Given the description of an element on the screen output the (x, y) to click on. 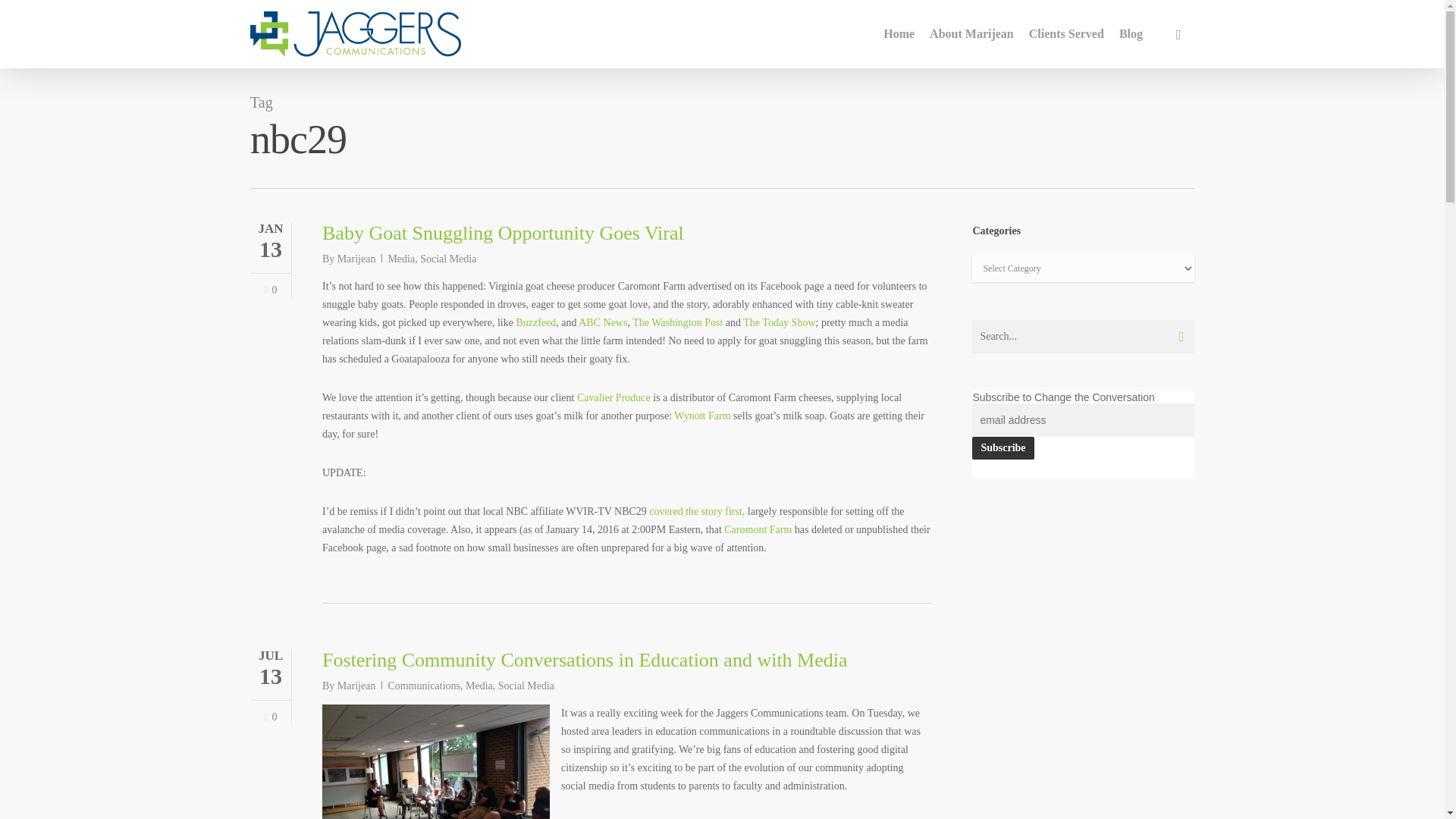
Baby Goat Snuggling Opportunity Goes Viral (502, 232)
Cavalier Produce (613, 397)
Media (479, 685)
Marijean (356, 258)
Posts by Marijean (356, 685)
Communications (423, 685)
ABC News (602, 322)
The Today Show (778, 322)
About Marijean (971, 33)
Love this (269, 717)
Marijean (356, 685)
charlottesville tomorrow (435, 761)
Search for: (1082, 336)
Home (898, 33)
Buzzfeed (535, 322)
